Given the description of an element on the screen output the (x, y) to click on. 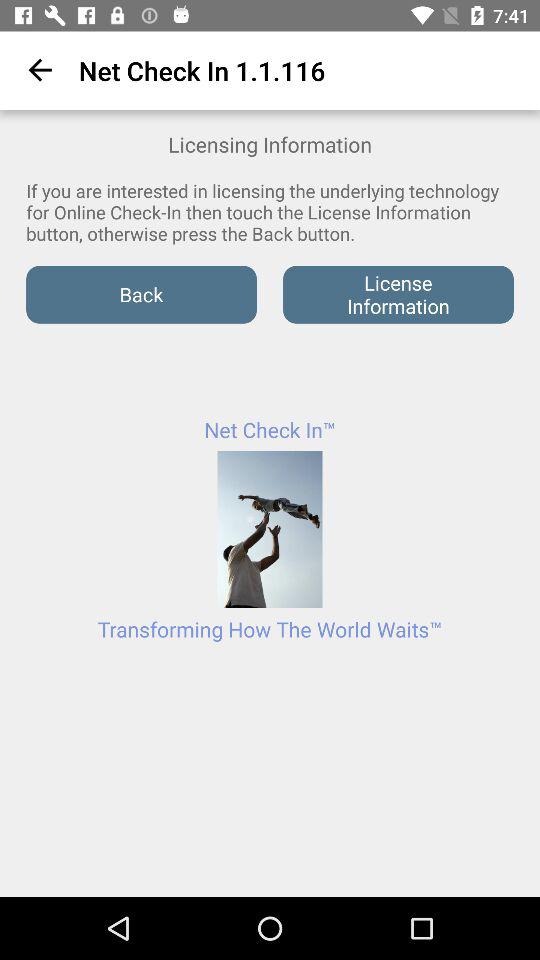
choose the app to the left of the net check in app (36, 70)
